Given the description of an element on the screen output the (x, y) to click on. 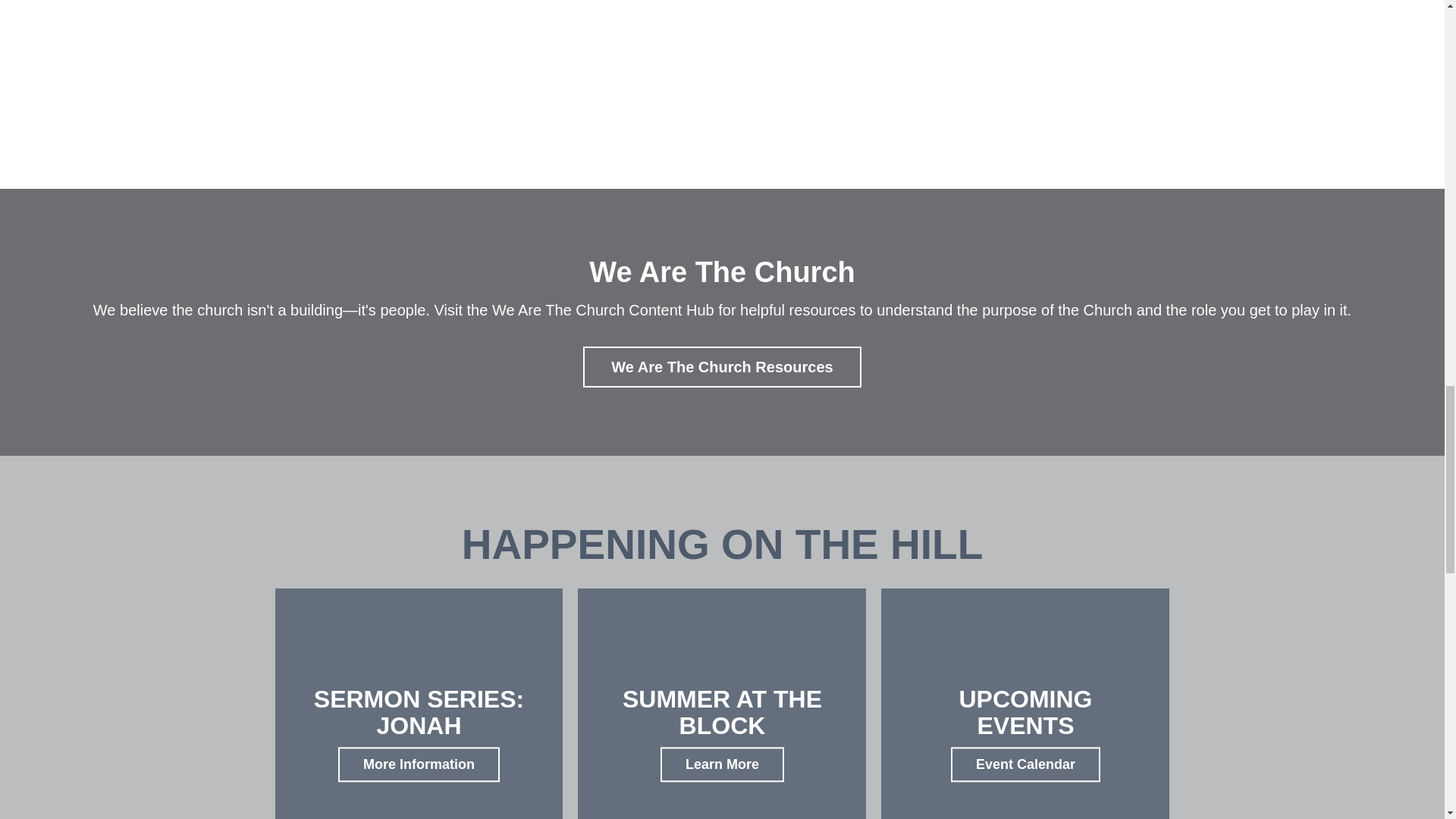
Sermon Series: Jonah (418, 764)
Summer at The Block (722, 764)
Upcoming Events (1025, 764)
